Given the description of an element on the screen output the (x, y) to click on. 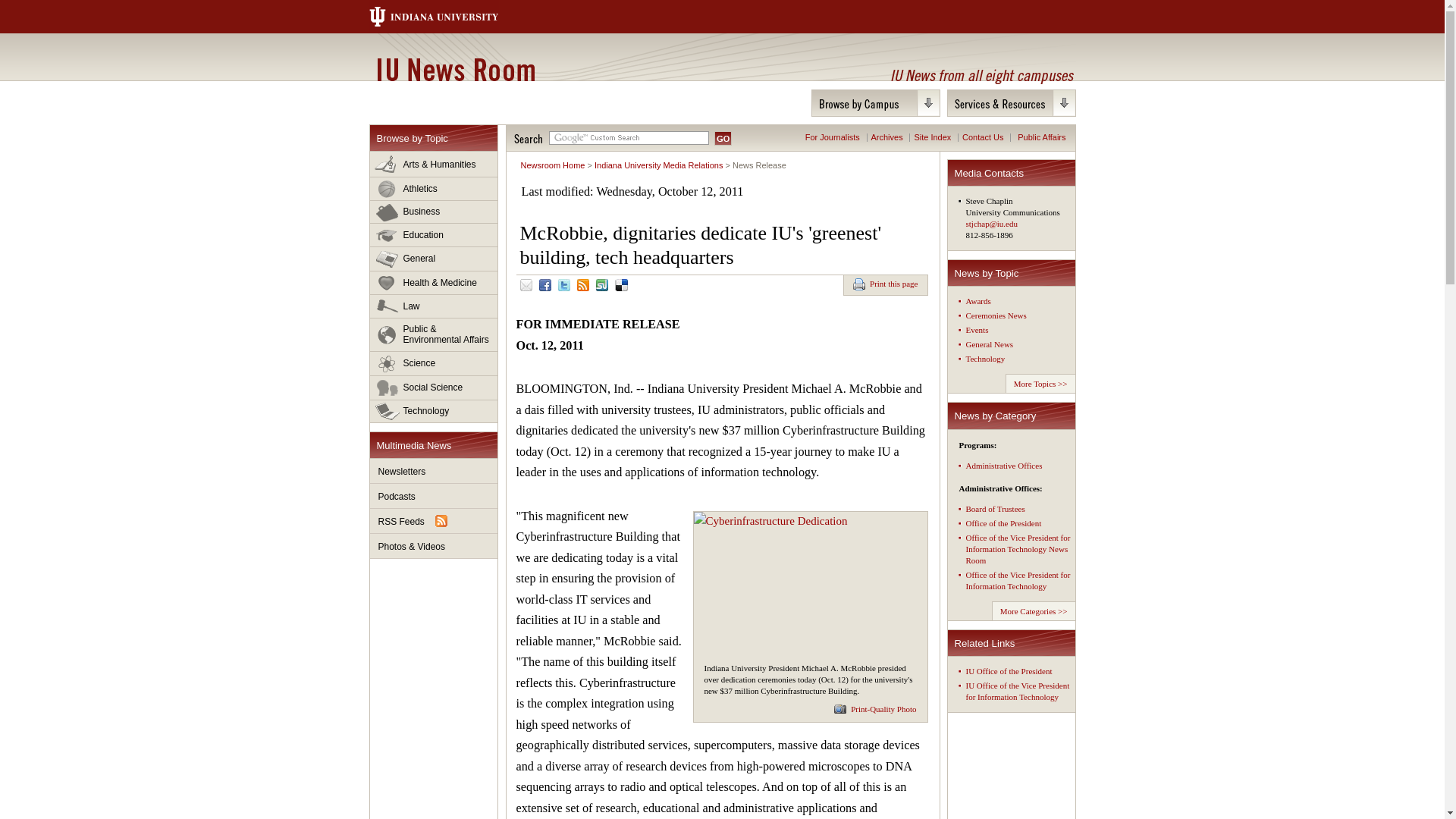
General (433, 259)
Athletics (433, 188)
RSS Feeds (433, 520)
Science (433, 363)
Podcasts (433, 496)
Social Science (433, 387)
IU News Room (455, 69)
Indiana University (448, 16)
Newsletters (433, 471)
Education (433, 235)
Technology (433, 411)
Business (433, 211)
Education (433, 235)
General (433, 259)
IU News Room (455, 69)
